Given the description of an element on the screen output the (x, y) to click on. 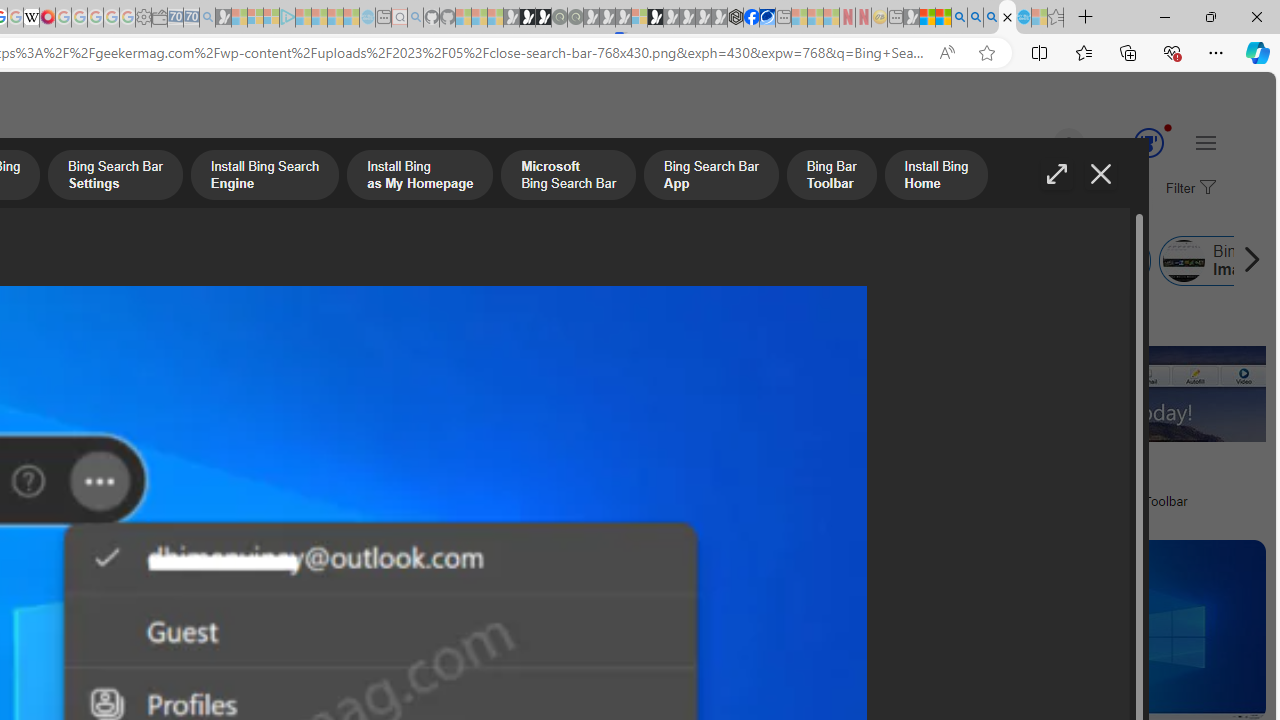
Bing Bar Download (837, 260)
Bing Search Bar Settings (115, 177)
Bing Search Bar App (305, 260)
Animation (1167, 127)
Bing Search Bar Install - Search Images (1007, 17)
Bing Bar Toolbar (504, 260)
Settings and quick links (1205, 142)
